Given the description of an element on the screen output the (x, y) to click on. 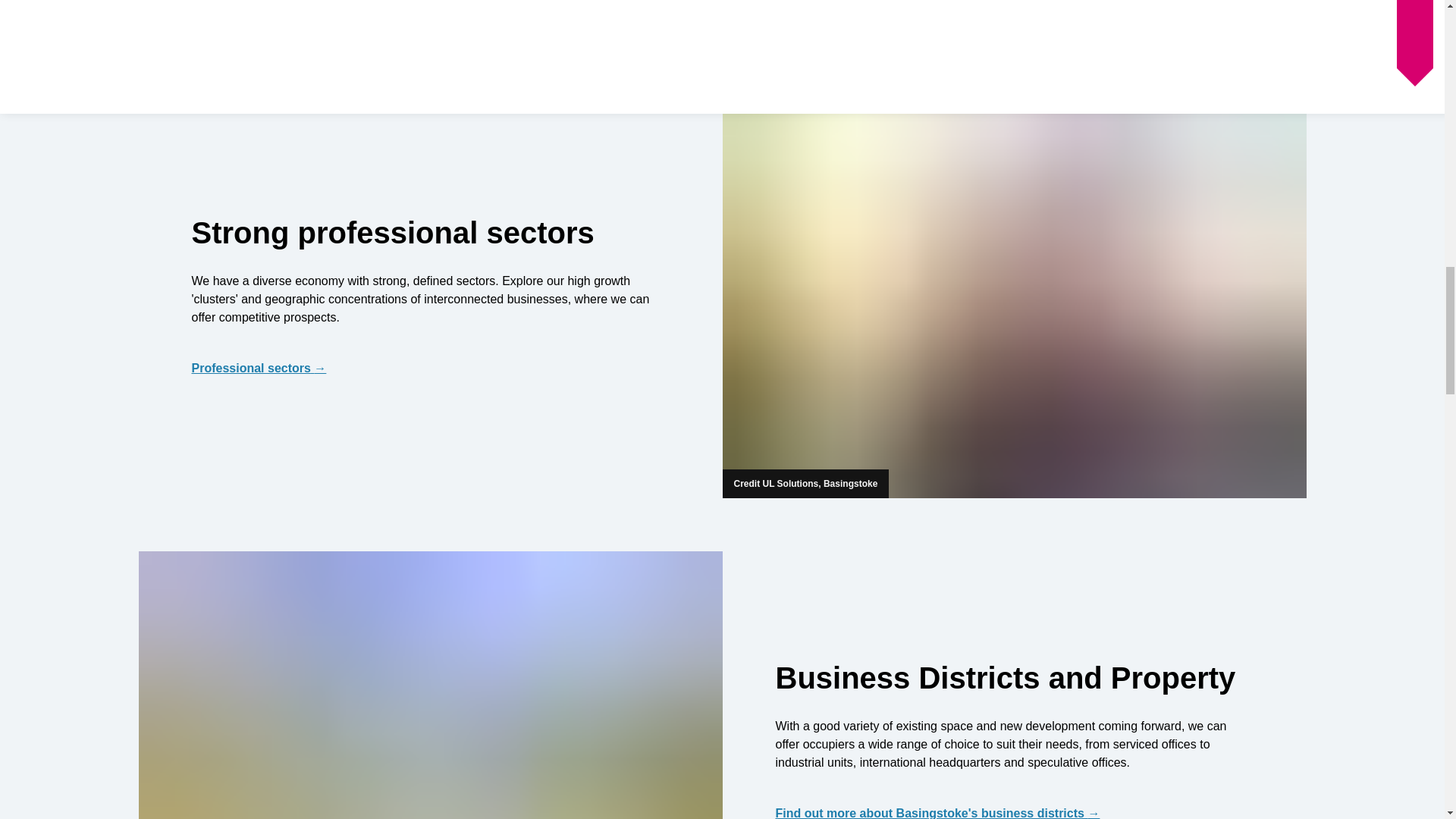
Professional sectors (429, 368)
Find out more about Basingstoke's business districts (1013, 810)
